Given the description of an element on the screen output the (x, y) to click on. 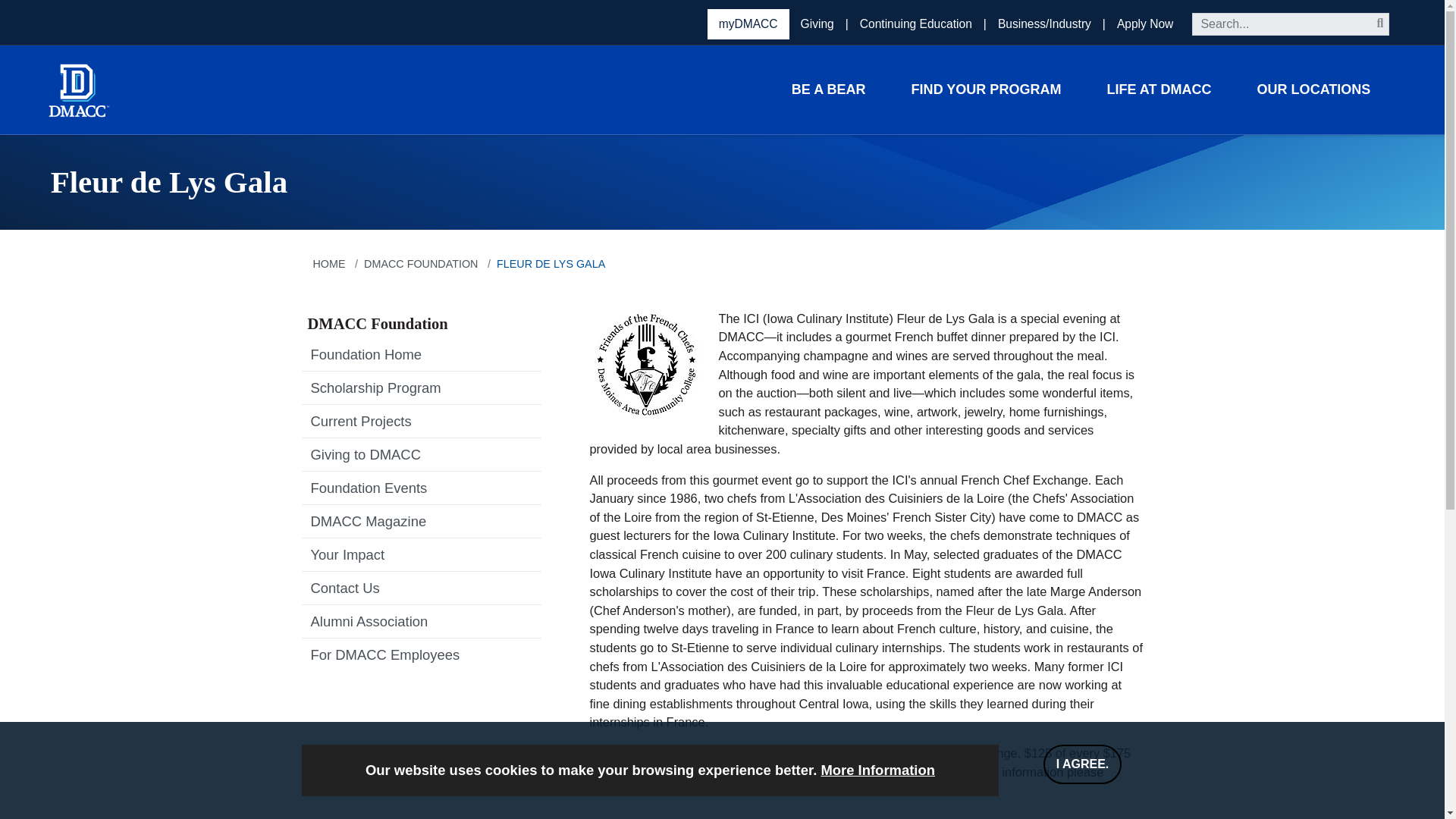
q (1290, 24)
Giving (818, 24)
FIND YOUR PROGRAM (986, 89)
LIFE AT DMACC (1158, 89)
Apply Now (1145, 24)
Continuing Education (917, 24)
myDMACC (748, 24)
BE A BEAR (828, 89)
